Given the description of an element on the screen output the (x, y) to click on. 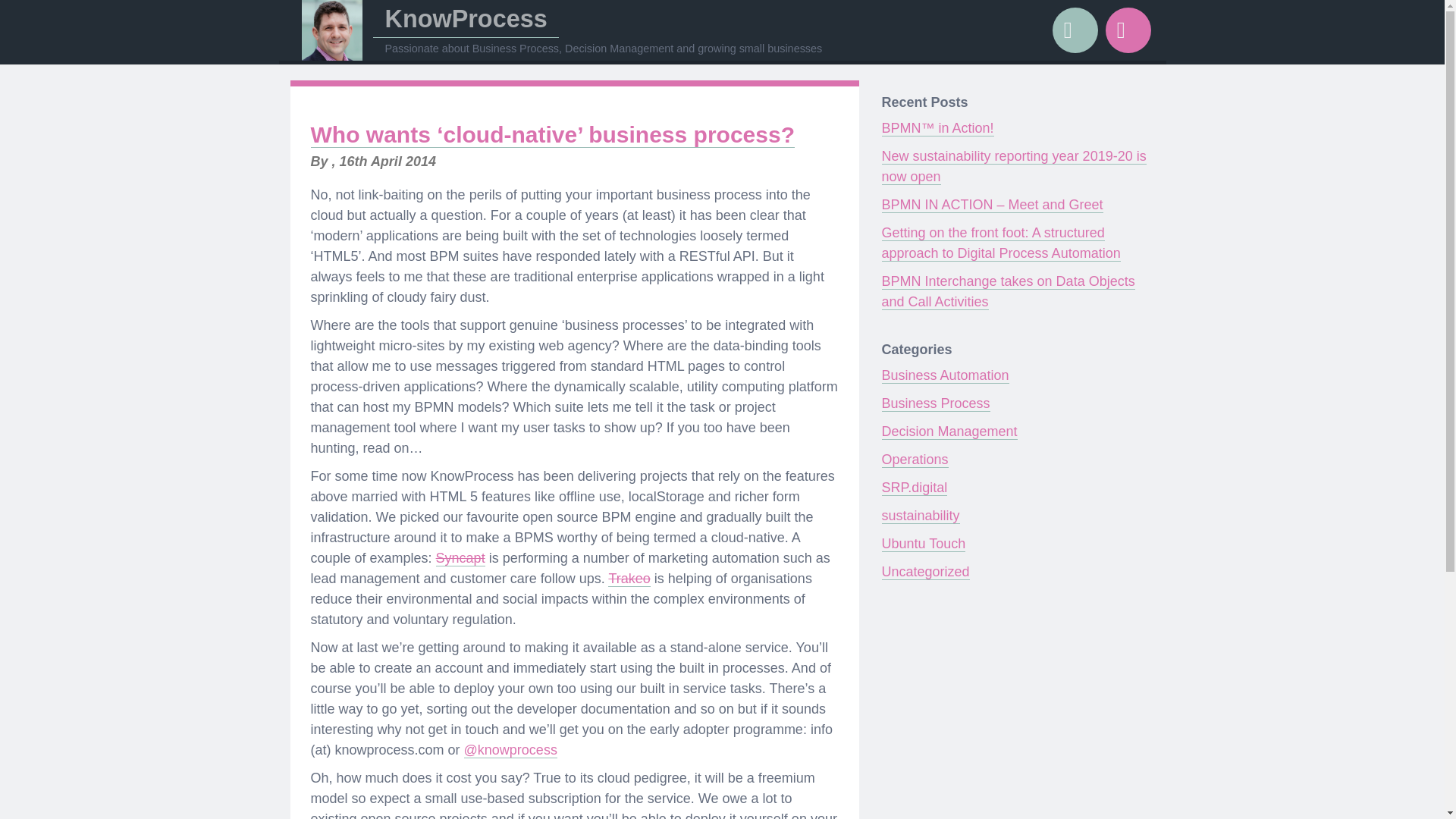
Decision Management (948, 431)
Business Automation (944, 375)
Tweet me (510, 750)
BPMN Interchange takes on Data Objects and Call Activities (1007, 291)
Menu (1128, 30)
Trakeo (628, 578)
Syncapt (459, 558)
Marketing Automation with Syncapt (459, 558)
KnowProcess (464, 18)
